Given the description of an element on the screen output the (x, y) to click on. 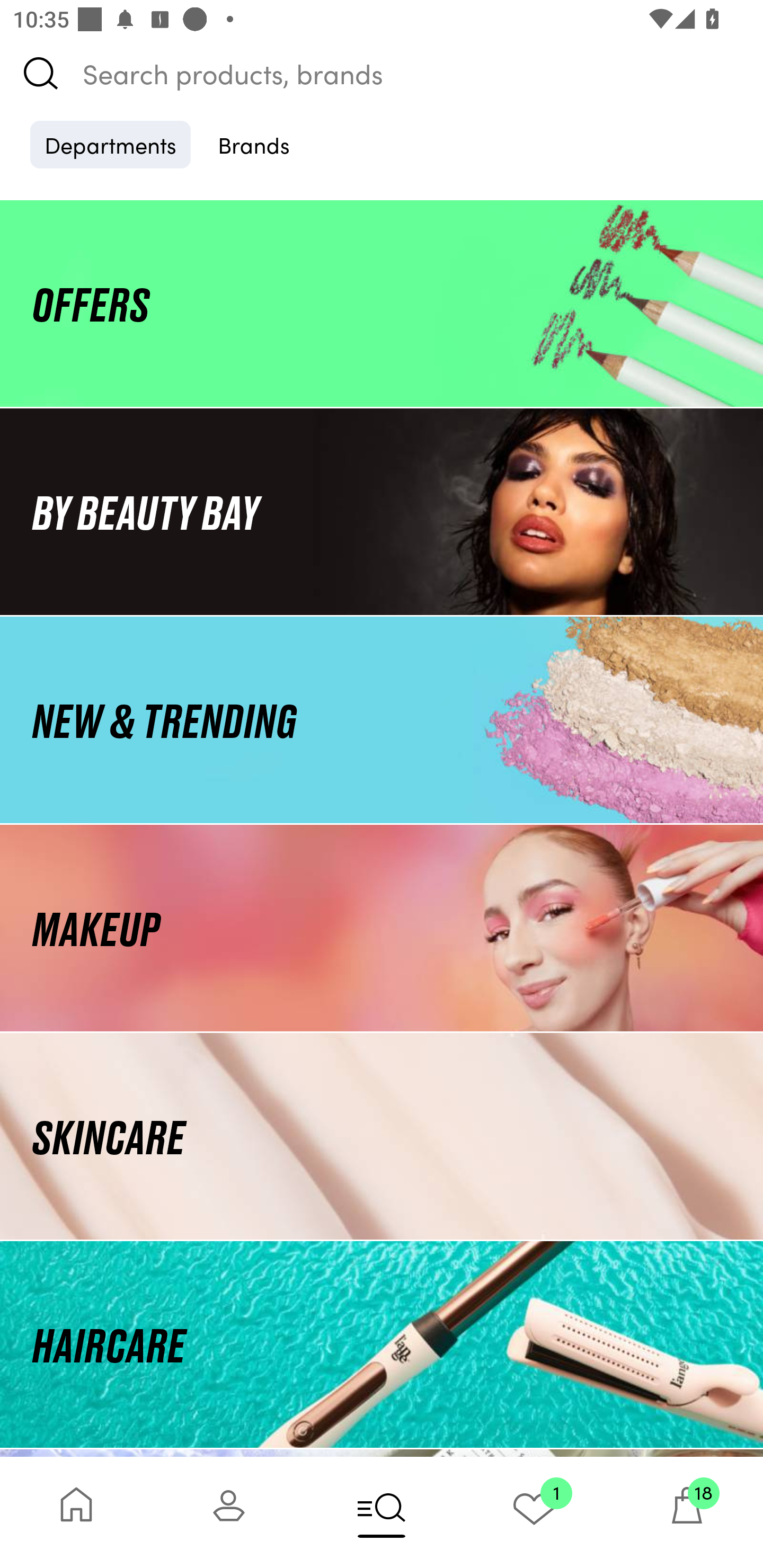
Search products, brands (381, 72)
Departments (110, 143)
Brands (253, 143)
OFFERS (381, 303)
BY BEAUTY BAY (381, 510)
NEW & TRENDING (381, 719)
MAKEUP (381, 927)
SKINCARE (381, 1136)
HAIRCARE (381, 1344)
1 (533, 1512)
18 (686, 1512)
